Given the description of an element on the screen output the (x, y) to click on. 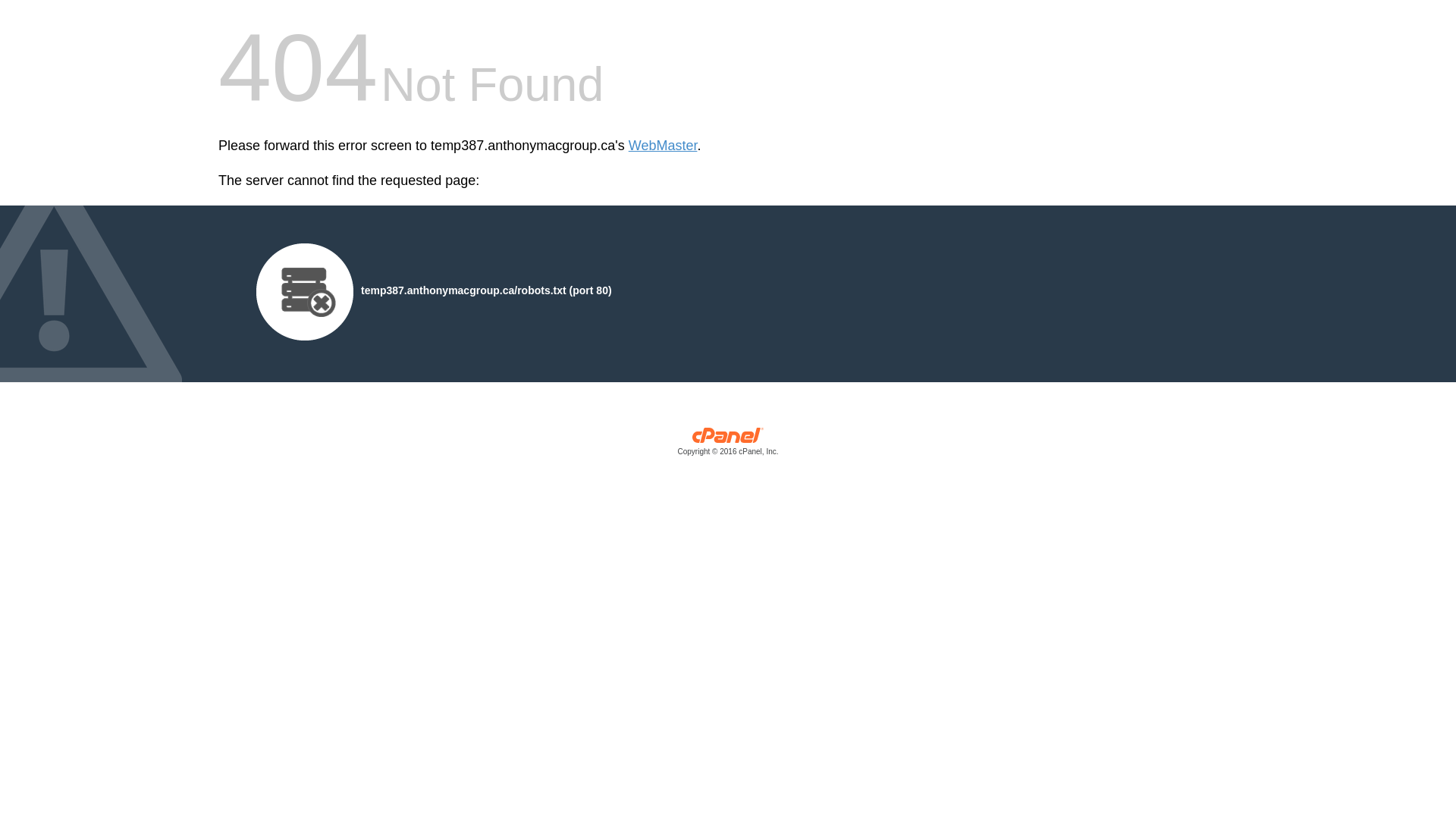
WebMaster Element type: text (662, 145)
